Given the description of an element on the screen output the (x, y) to click on. 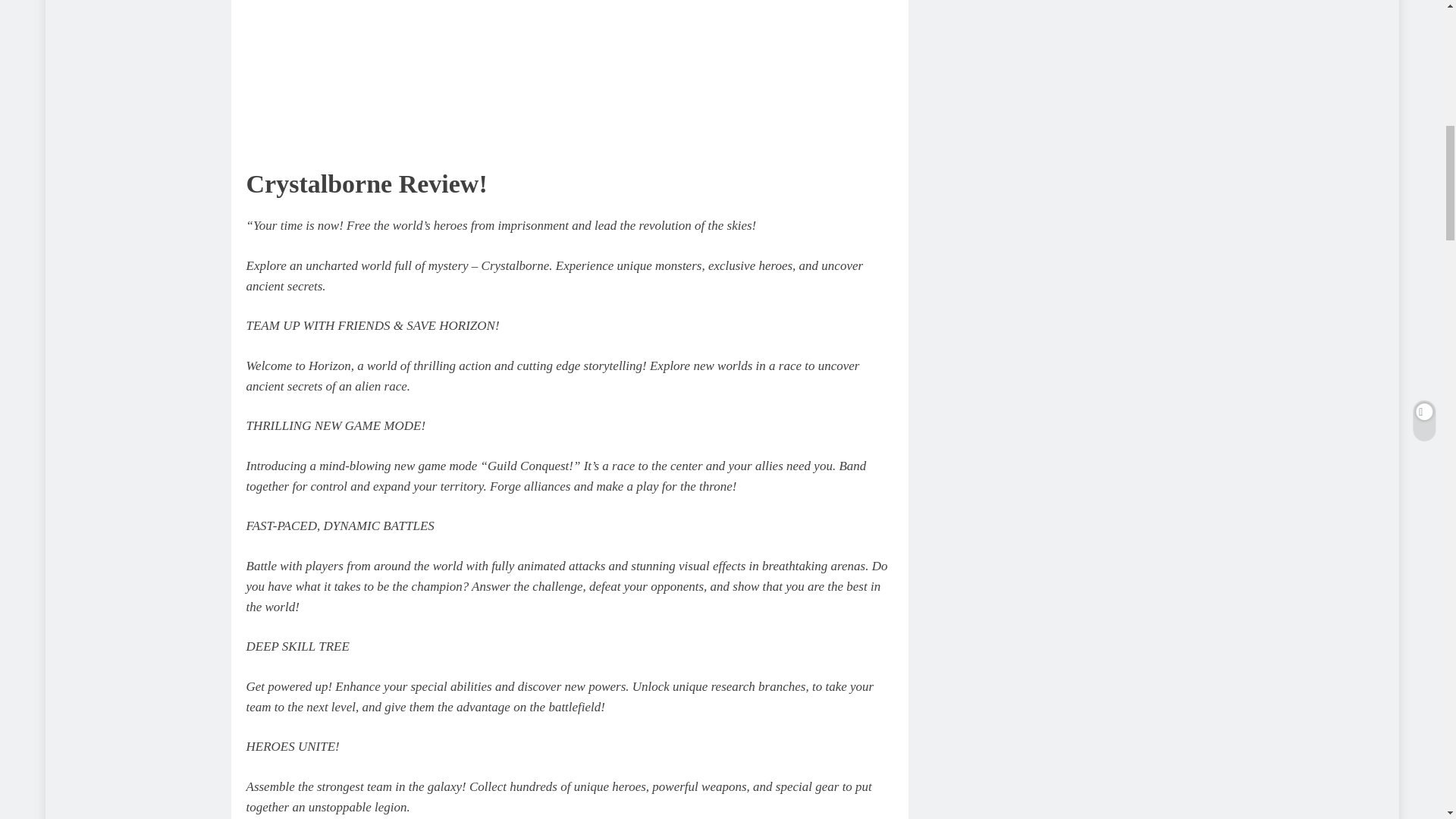
Crystalborne Replay - The Casual App Gamer (488, 72)
